Given the description of an element on the screen output the (x, y) to click on. 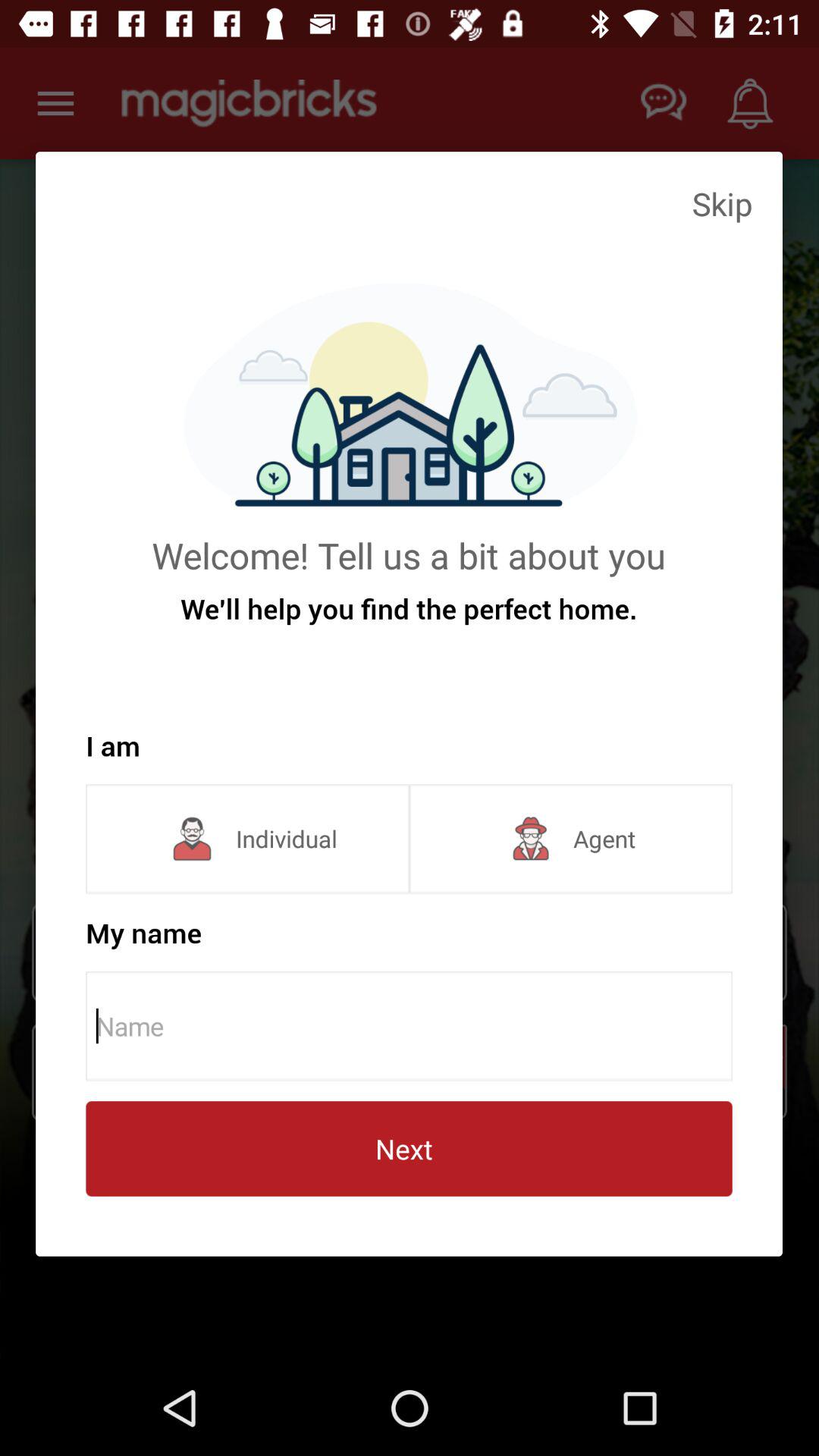
select item above the welcome tell us icon (722, 203)
